Given the description of an element on the screen output the (x, y) to click on. 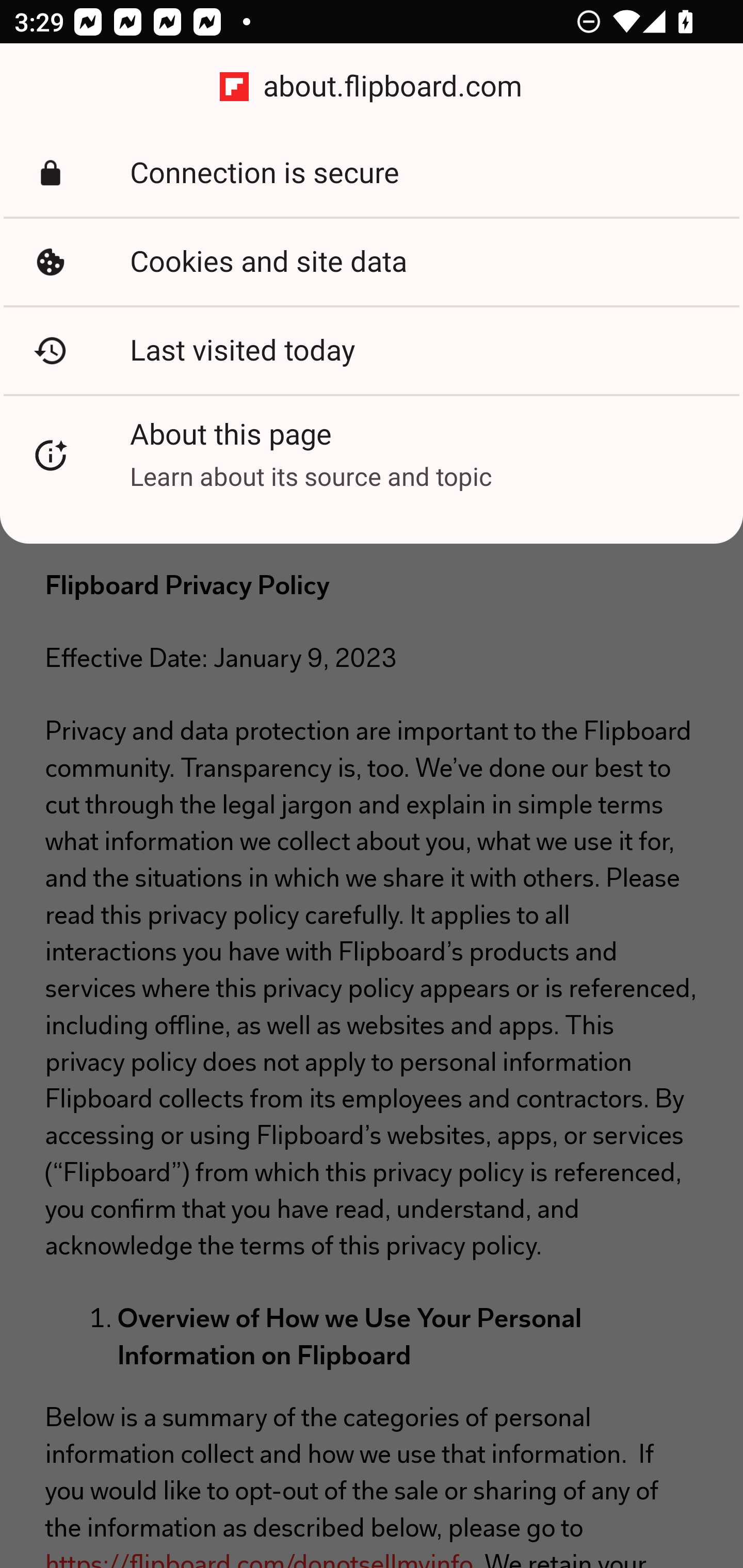
about.flipboard.com (371, 86)
Connection is secure (371, 173)
Cookies and site data (371, 261)
Last visited today (371, 350)
About this page Learn about its source and topic (371, 455)
